Given the description of an element on the screen output the (x, y) to click on. 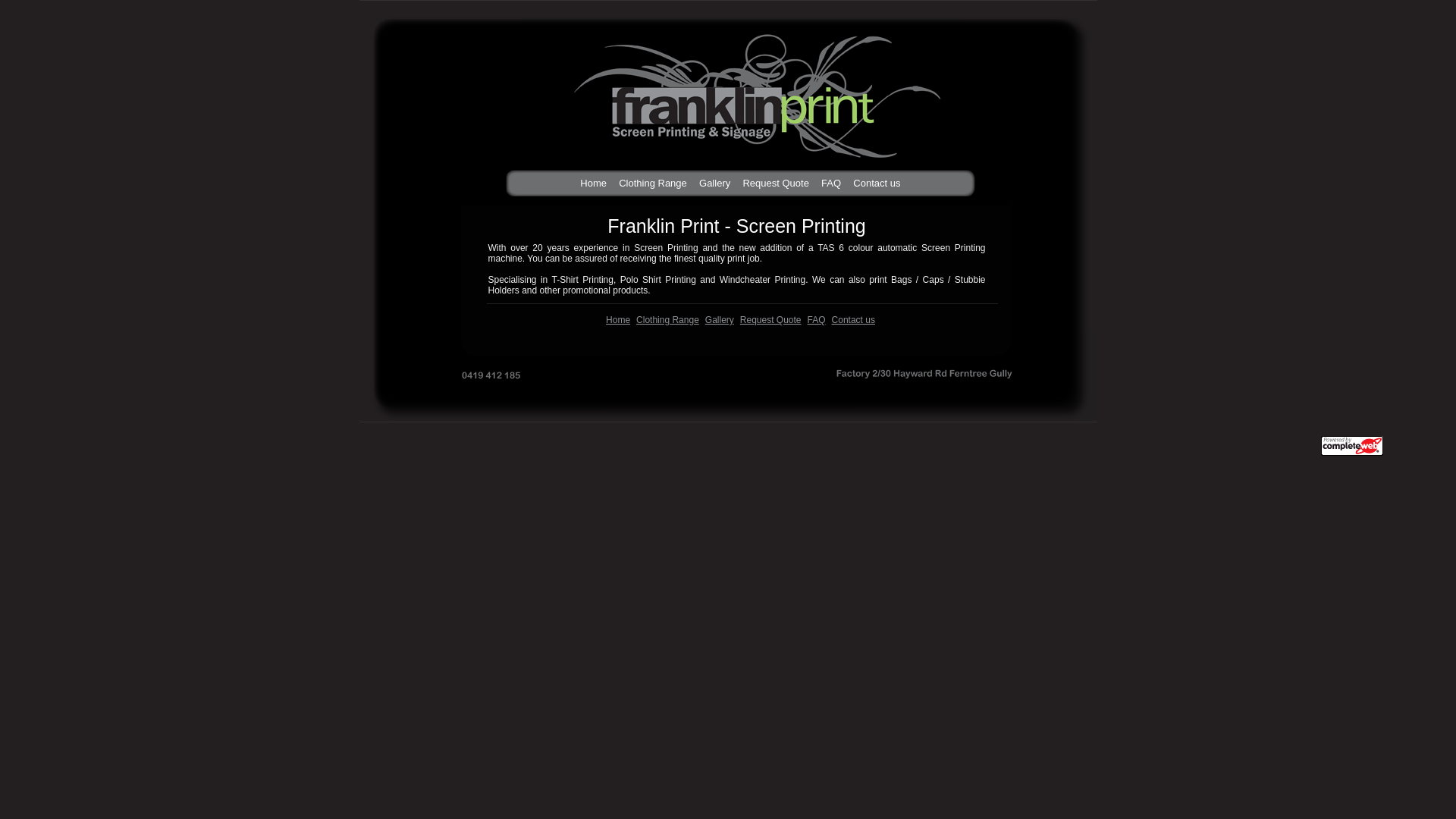
Clothing Range   Element type: text (655, 182)
Contact us   Element type: text (878, 182)
Franklin Print Element type: hover (973, 377)
Gallery   Element type: text (717, 182)
Franklin Print Element type: hover (482, 377)
Franklin Print Element type: hover (728, 377)
Home   Element type: text (595, 182)
Contact us Element type: text (853, 319)
FAQ Element type: text (816, 319)
Franklin Print Element type: hover (440, 102)
Request Quote Element type: text (770, 319)
FAQ   Element type: text (833, 182)
Home Element type: text (617, 319)
Contact us   Element type: text (879, 182)
FAQ   Element type: text (833, 182)
Clothing Range Element type: text (667, 319)
Franklin Print Element type: hover (743, 86)
Gallery   Element type: text (717, 182)
Request Quote   Element type: text (778, 182)
Home   Element type: text (596, 182)
Gallery Element type: text (719, 319)
Request Quote   Element type: text (777, 182)
Clothing Range   Element type: text (655, 182)
Franklin Print Element type: hover (1030, 102)
